Given the description of an element on the screen output the (x, y) to click on. 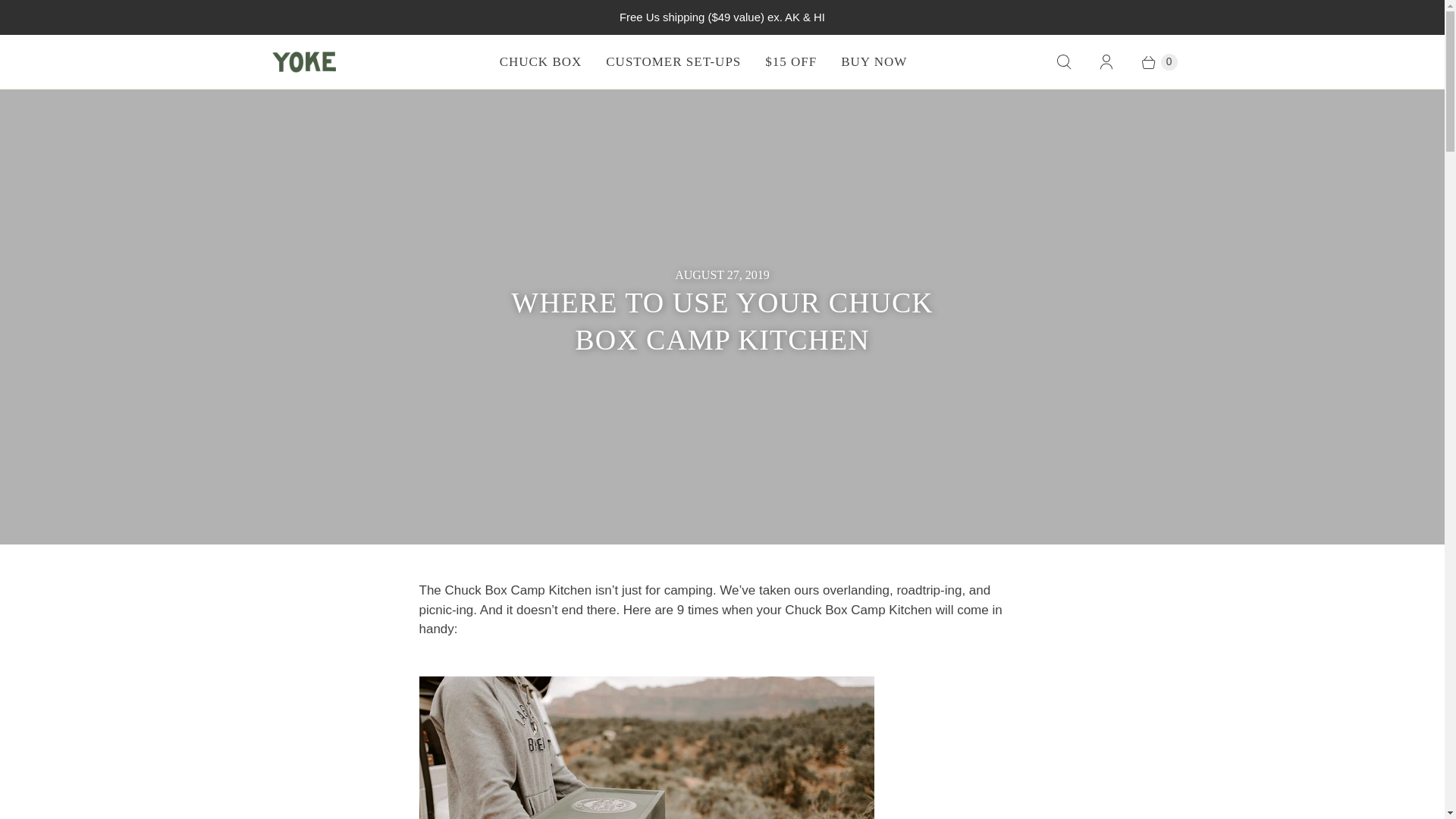
0 (1151, 62)
CUSTOMER SET-UPS (673, 62)
BUY NOW (873, 62)
CHUCK BOX (540, 62)
